Given the description of an element on the screen output the (x, y) to click on. 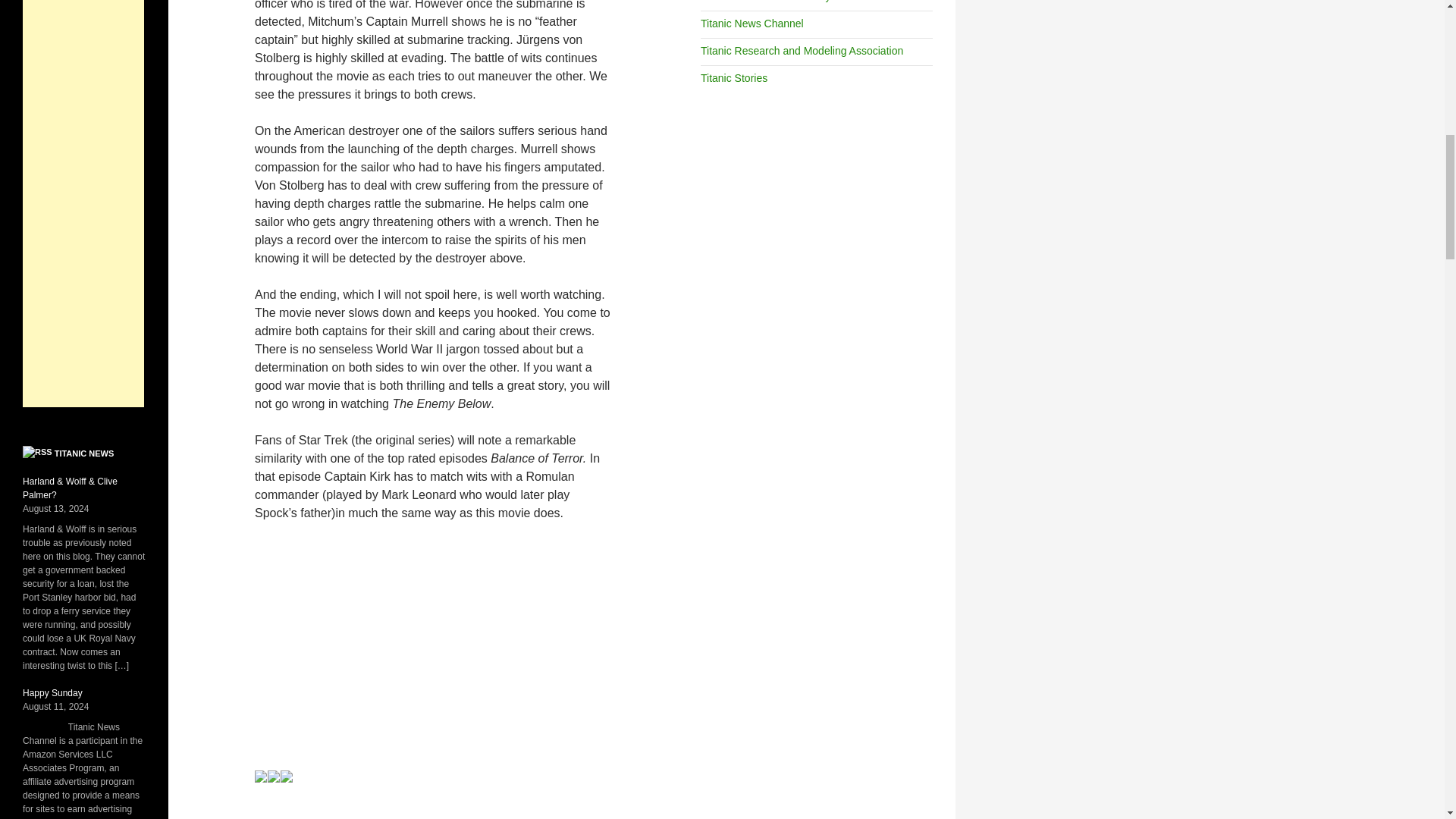
Titanic International Society (764, 1)
Titanic Research and Modeling Association (801, 50)
News reports on Titanic and related information. (751, 23)
Titanic News Channel (751, 23)
